Given the description of an element on the screen output the (x, y) to click on. 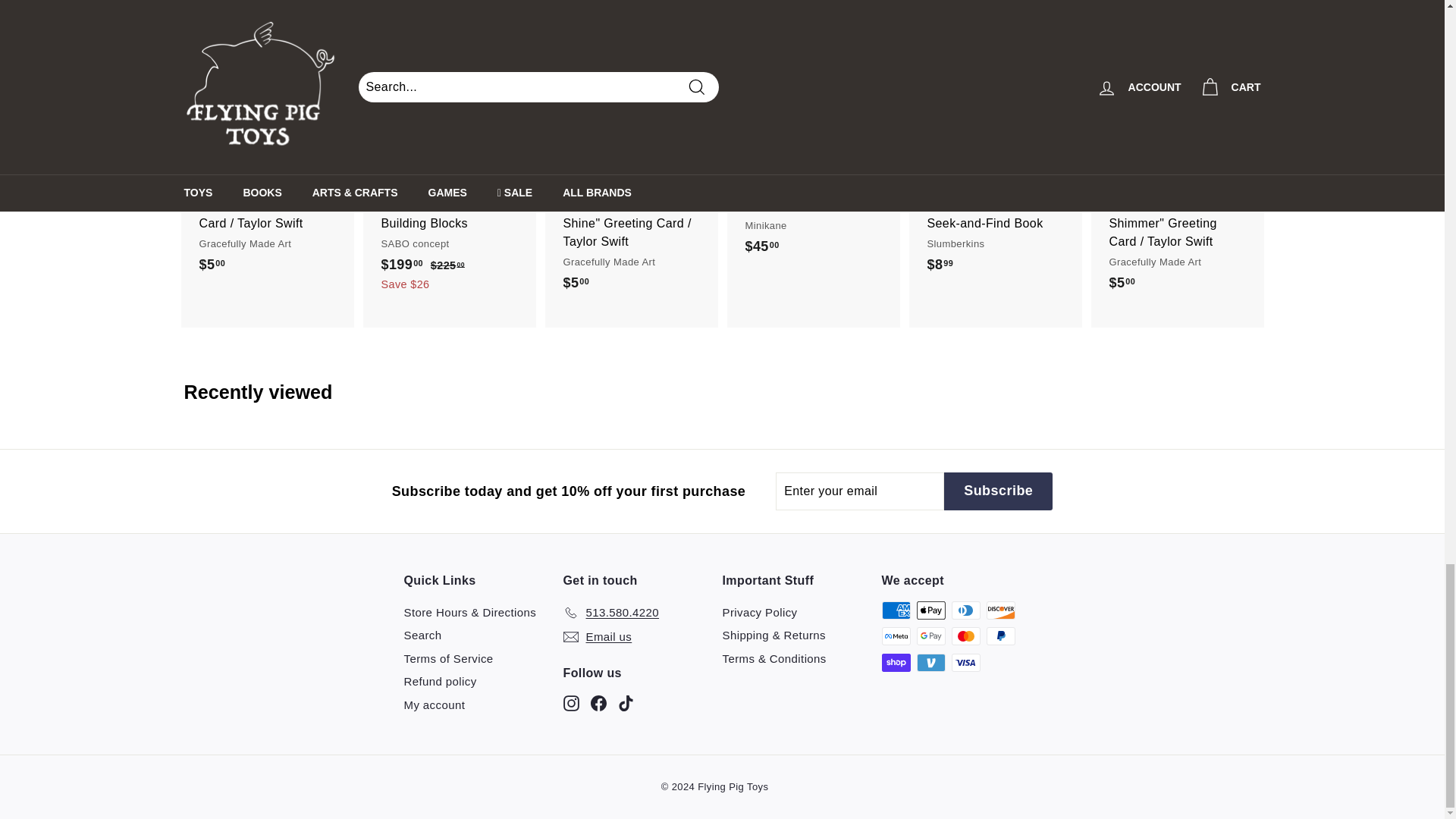
Mastercard (964, 636)
Meta Pay (895, 636)
American Express (895, 610)
Apple Pay (929, 610)
Diners Club (964, 610)
Google Pay (929, 636)
Discover (999, 610)
